Given the description of an element on the screen output the (x, y) to click on. 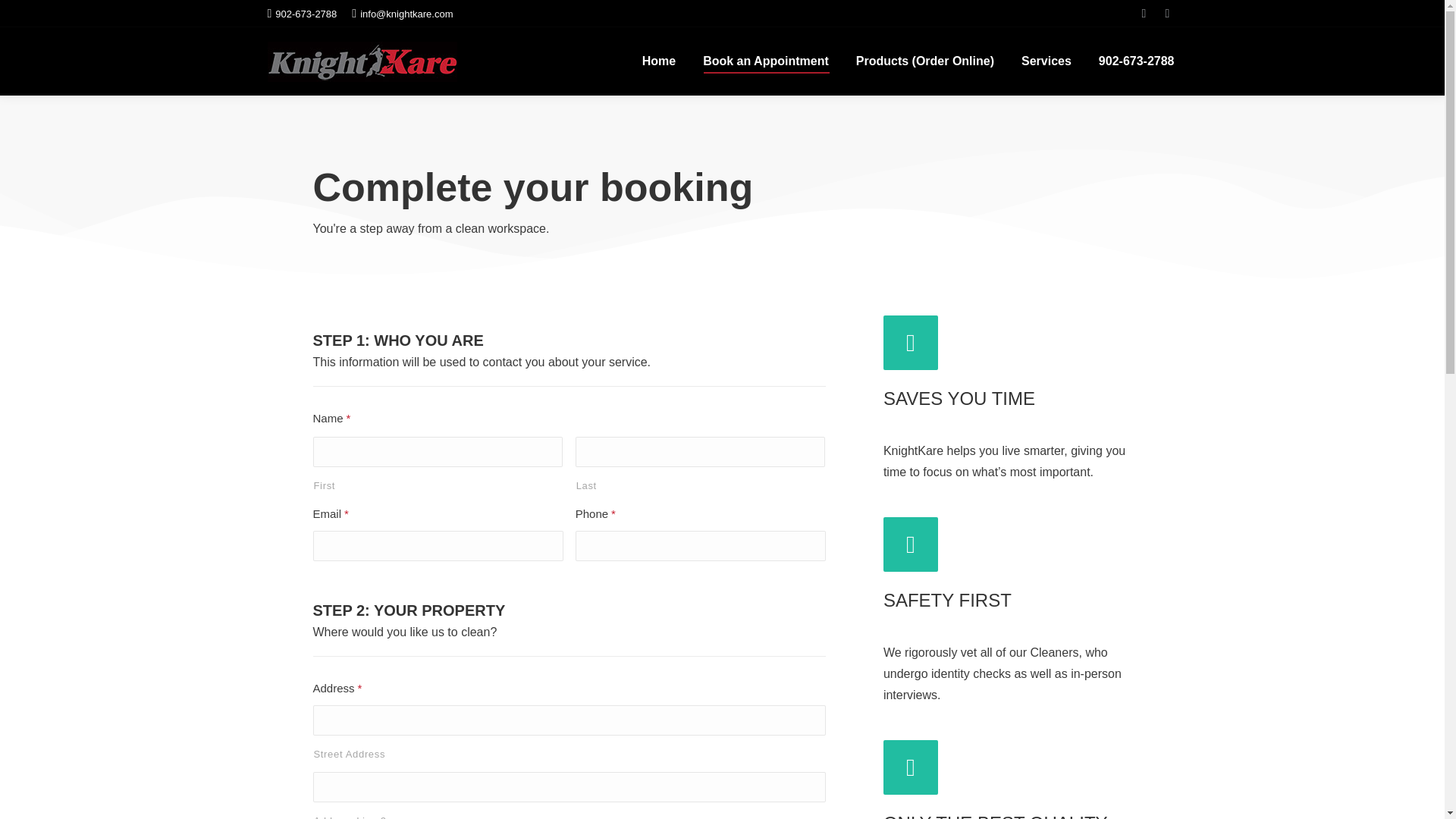
Book an Appointment (765, 60)
902-673-2788 (1136, 60)
Home (658, 60)
Twitter page opens in new window (1166, 13)
Facebook page opens in new window (1144, 13)
Services (1045, 60)
